Given the description of an element on the screen output the (x, y) to click on. 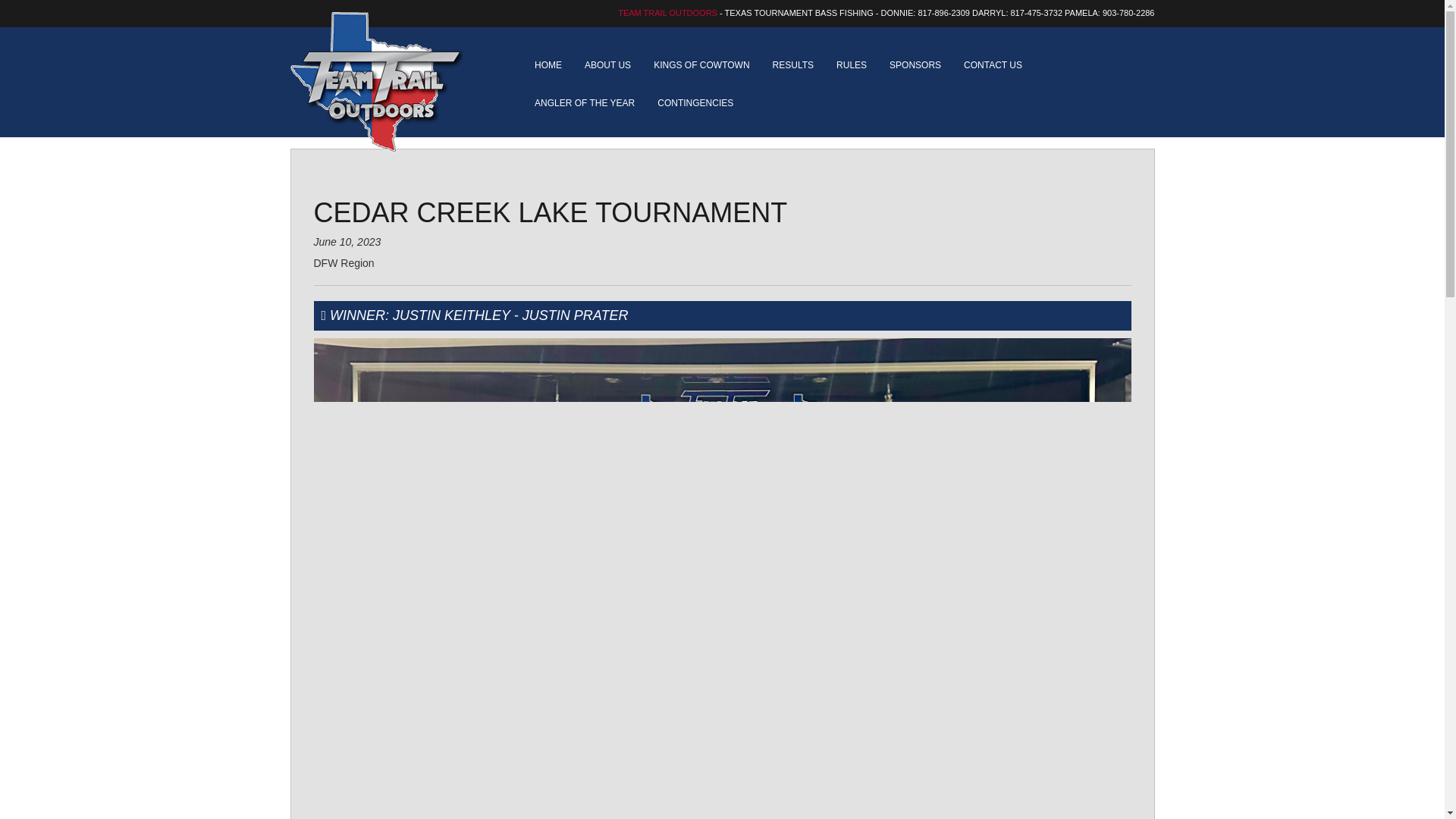
ABOUT US (607, 64)
CONTINGENCIES (695, 103)
RESULTS (793, 64)
KINGS OF COWTOWN (701, 64)
CONTACT US (992, 64)
ANGLER OF THE YEAR (584, 103)
Team Trail Outdoors (389, 82)
HOME (547, 64)
RULES (851, 64)
SPONSORS (914, 64)
